Given the description of an element on the screen output the (x, y) to click on. 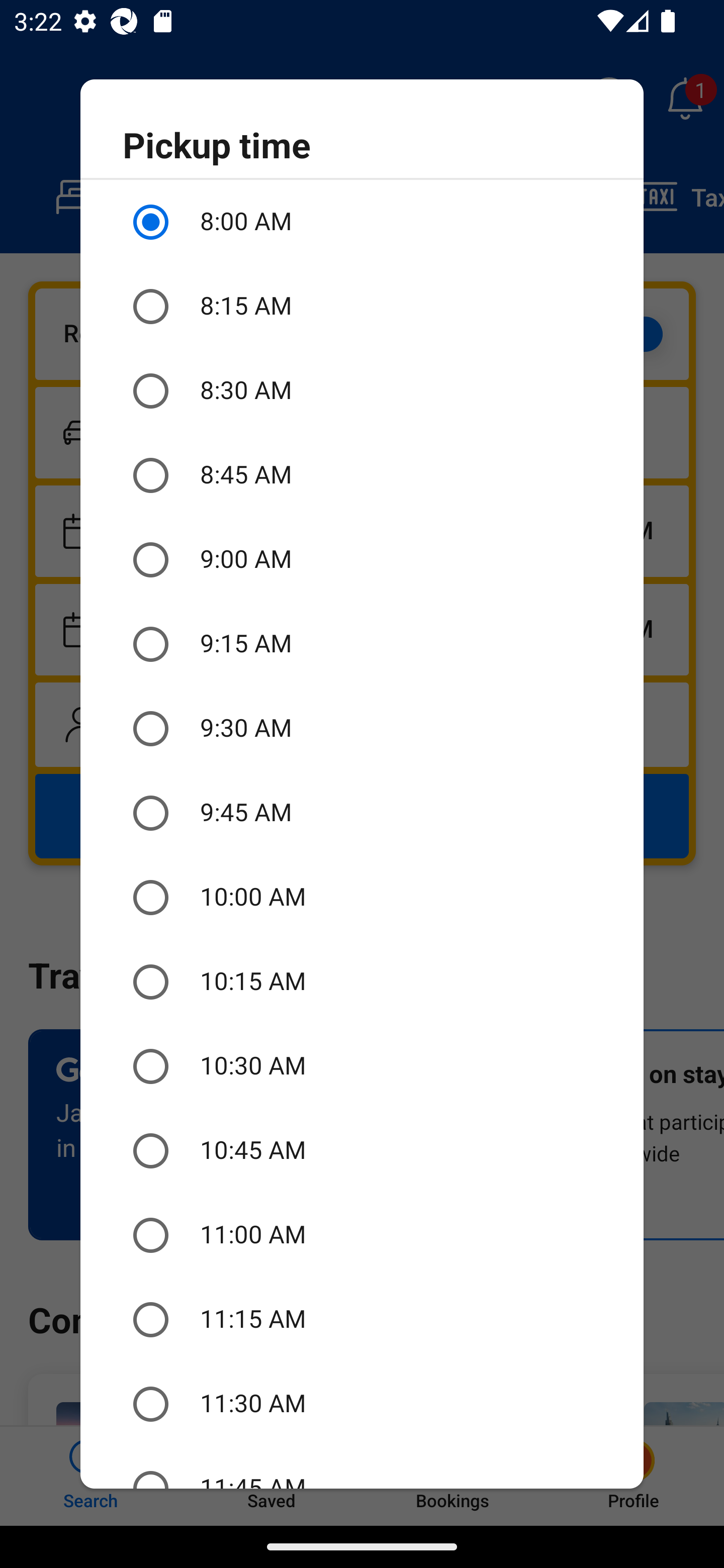
8:00 AM (361, 222)
8:15 AM (361, 306)
8:30 AM (361, 390)
8:45 AM (361, 474)
9:00 AM (361, 559)
9:15 AM (361, 644)
9:30 AM (361, 728)
9:45 AM (361, 813)
10:00 AM (361, 897)
10:15 AM (361, 981)
10:30 AM (361, 1065)
10:45 AM (361, 1150)
11:00 AM (361, 1235)
11:15 AM (361, 1319)
11:30 AM (361, 1403)
